Given the description of an element on the screen output the (x, y) to click on. 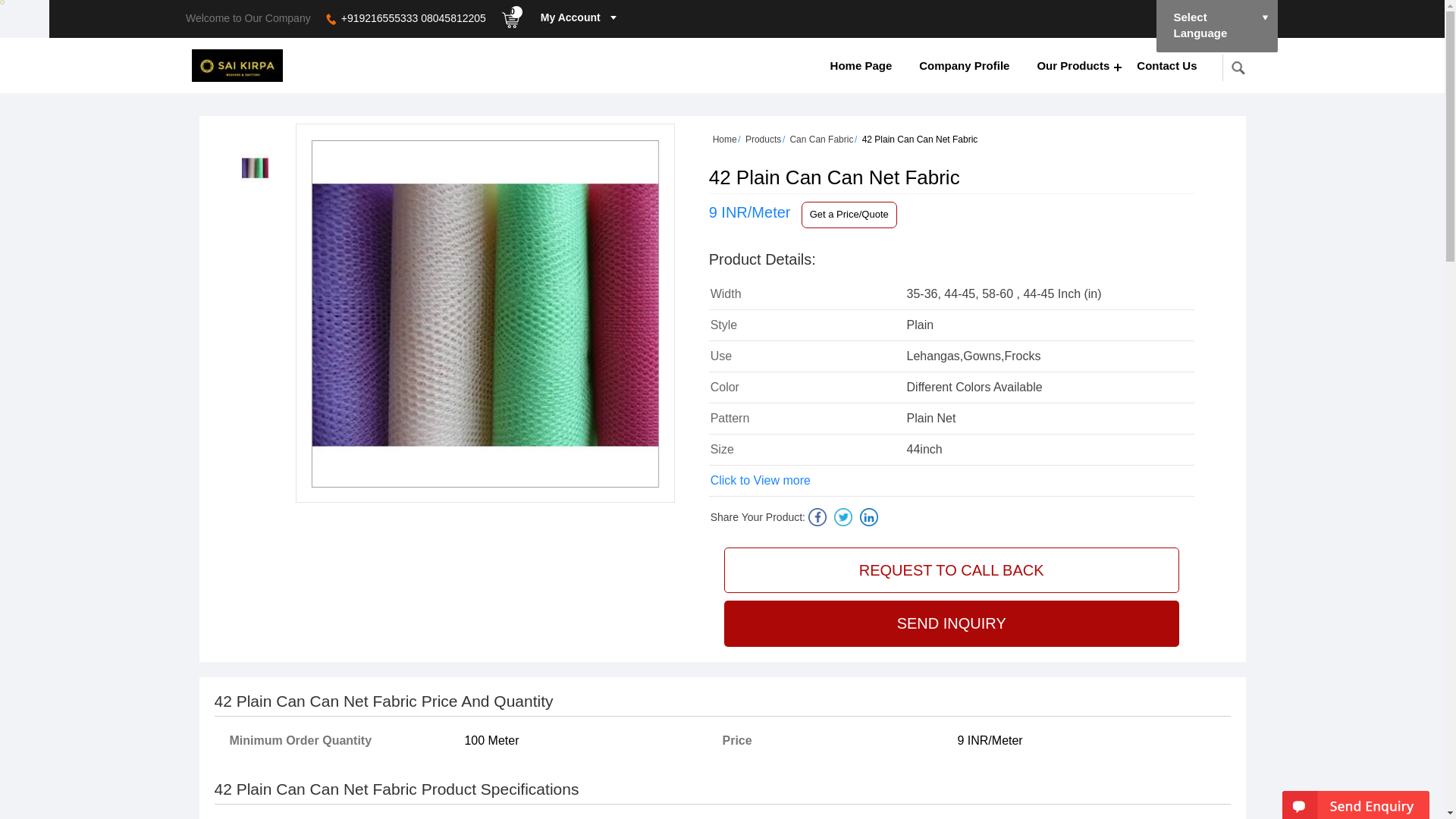
Home Page (860, 65)
Sai Kirpa (236, 65)
Select Language (1216, 26)
My Account (571, 13)
Company Profile (964, 65)
Our Products (1072, 65)
